Given the description of an element on the screen output the (x, y) to click on. 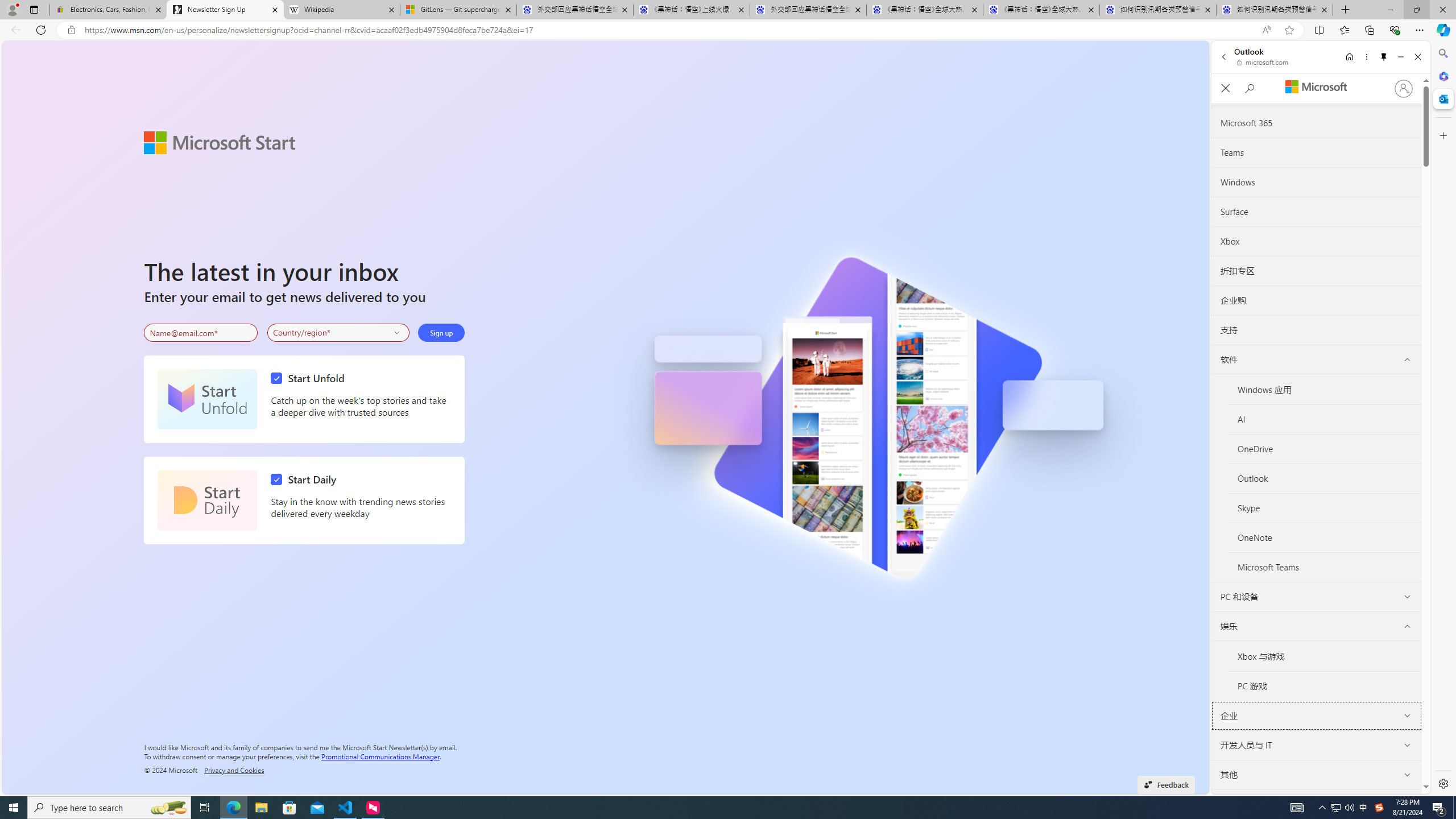
Wikipedia (341, 9)
Unpin side pane (1383, 56)
Start Unfold (207, 399)
Xbox (1316, 241)
